Given the description of an element on the screen output the (x, y) to click on. 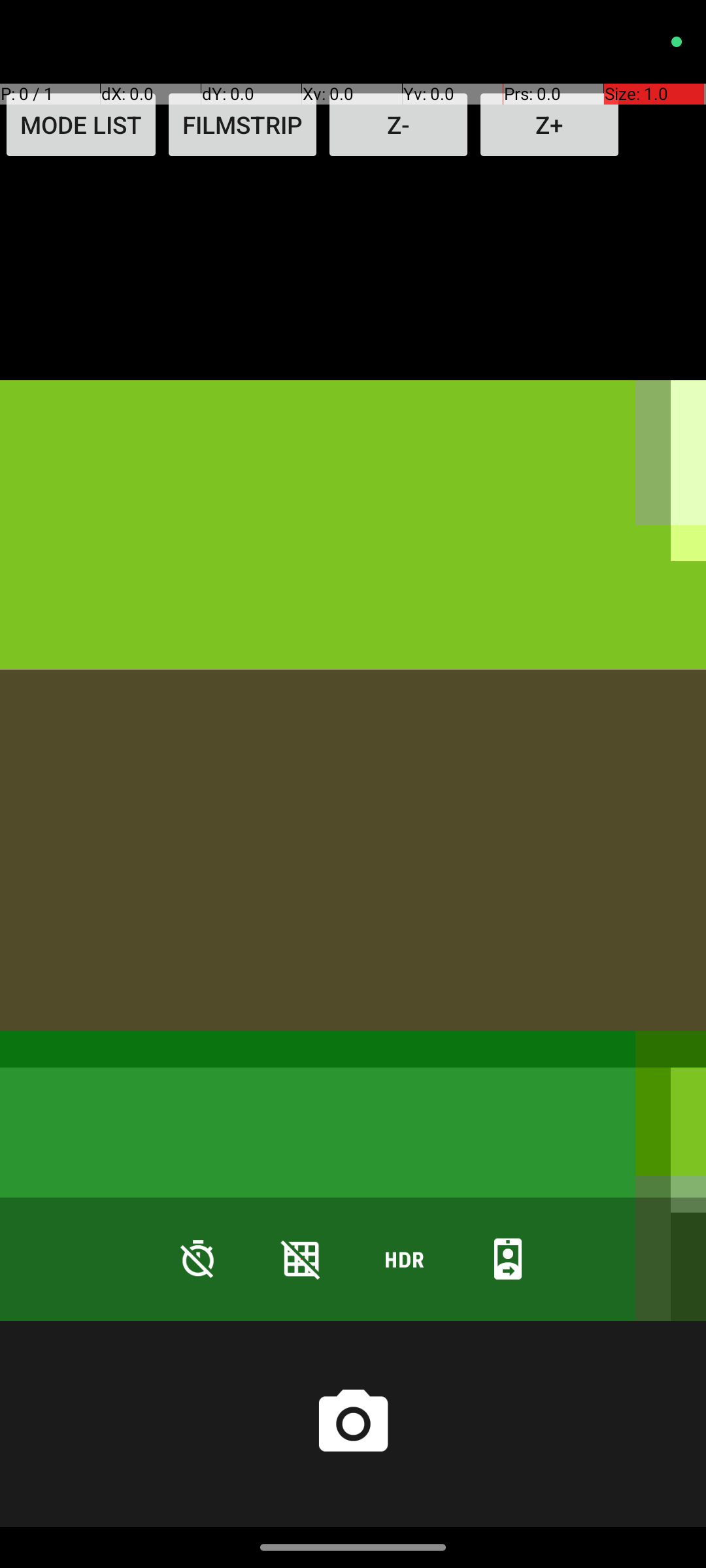
HDR on Element type: android.widget.ImageButton (404, 1258)
